Given the description of an element on the screen output the (x, y) to click on. 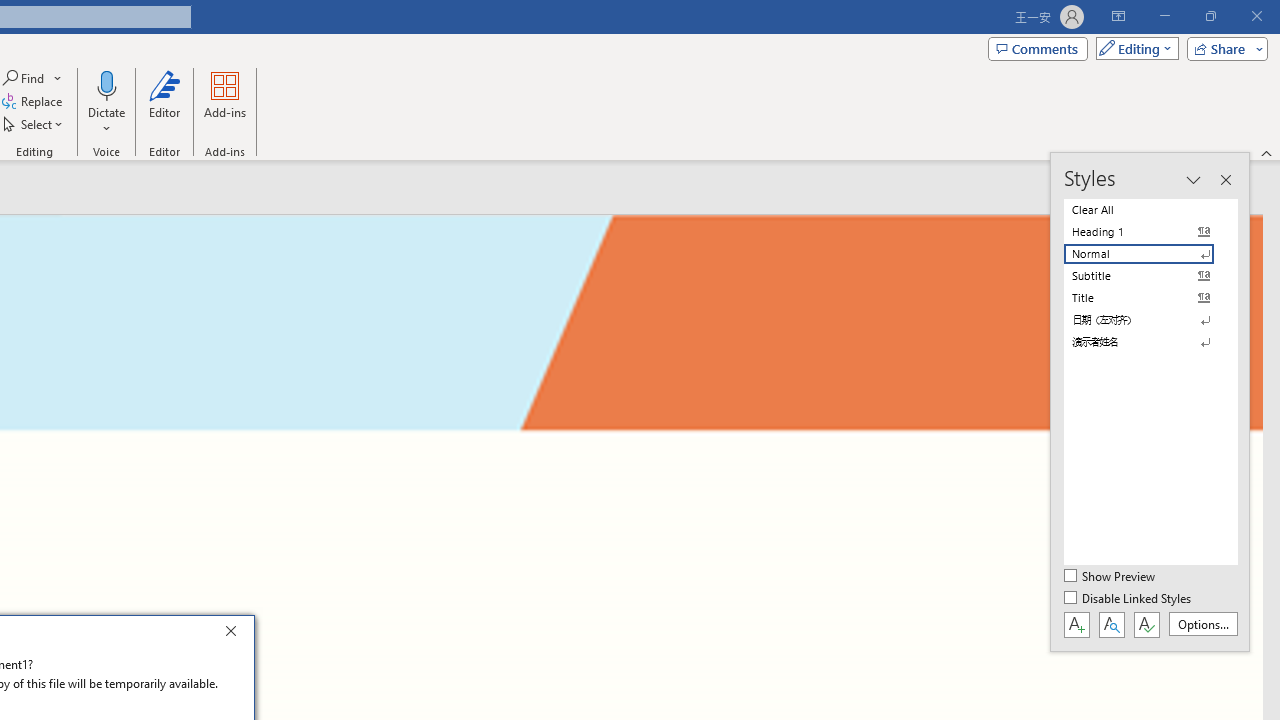
Comments (1038, 48)
Close (236, 633)
Normal (1150, 253)
Dictate (106, 84)
Show Preview (1110, 577)
Ribbon Display Options (1118, 16)
Clear All (1150, 209)
Dictate (106, 102)
Share (1223, 48)
Subtitle (1150, 275)
Class: NetUIImage (1138, 341)
Collapse the Ribbon (1267, 152)
